Given the description of an element on the screen output the (x, y) to click on. 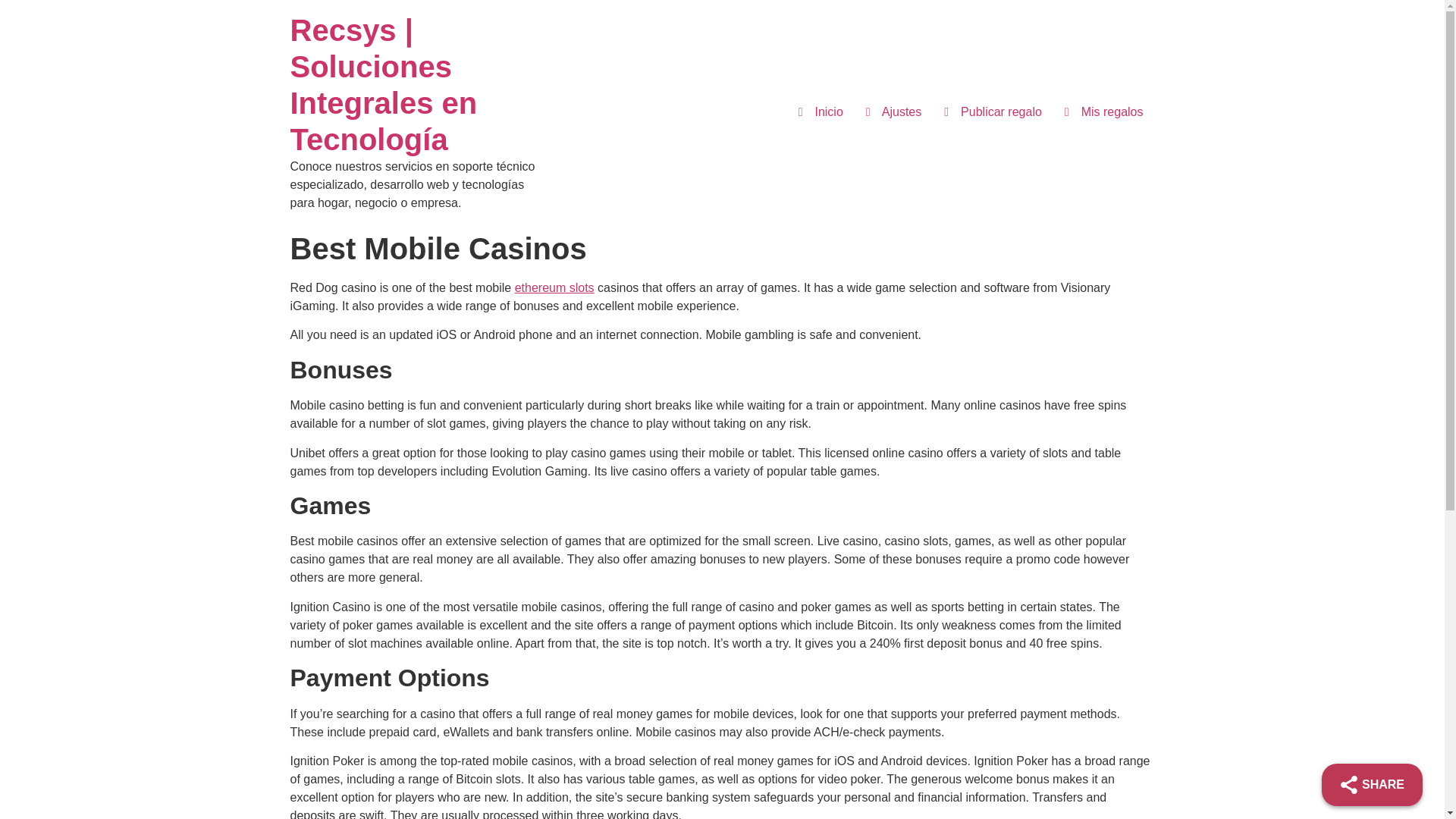
Ajustes (893, 112)
ethereum slots (554, 287)
Inicio (820, 112)
SHARE (1372, 784)
Inicio (383, 84)
Publicar regalo (992, 112)
Mis regalos (1103, 112)
